Given the description of an element on the screen output the (x, y) to click on. 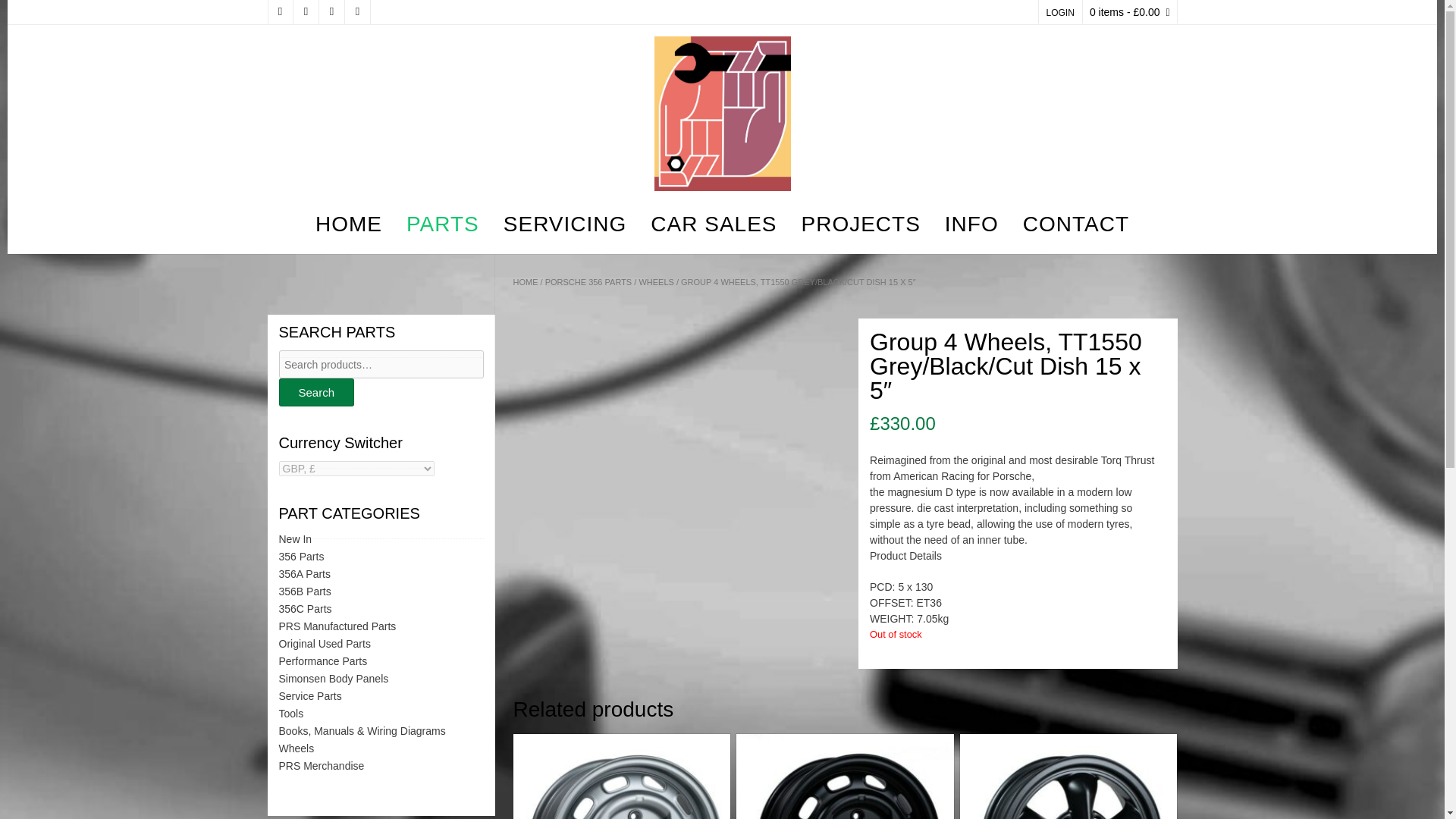
PARTS (443, 226)
Find Us on Facebook (305, 12)
Tools (291, 713)
Performance Parts (323, 661)
New In (296, 539)
Simonsen Body Panels (333, 678)
View your shopping cart (1129, 11)
View our YouTube Channel (330, 12)
CONTACT (1075, 226)
HOME (524, 281)
Send Us an Email (279, 12)
HOME (348, 226)
PRS Manufactured Parts (337, 625)
PROJECTS (860, 226)
356C Parts (305, 608)
